Given the description of an element on the screen output the (x, y) to click on. 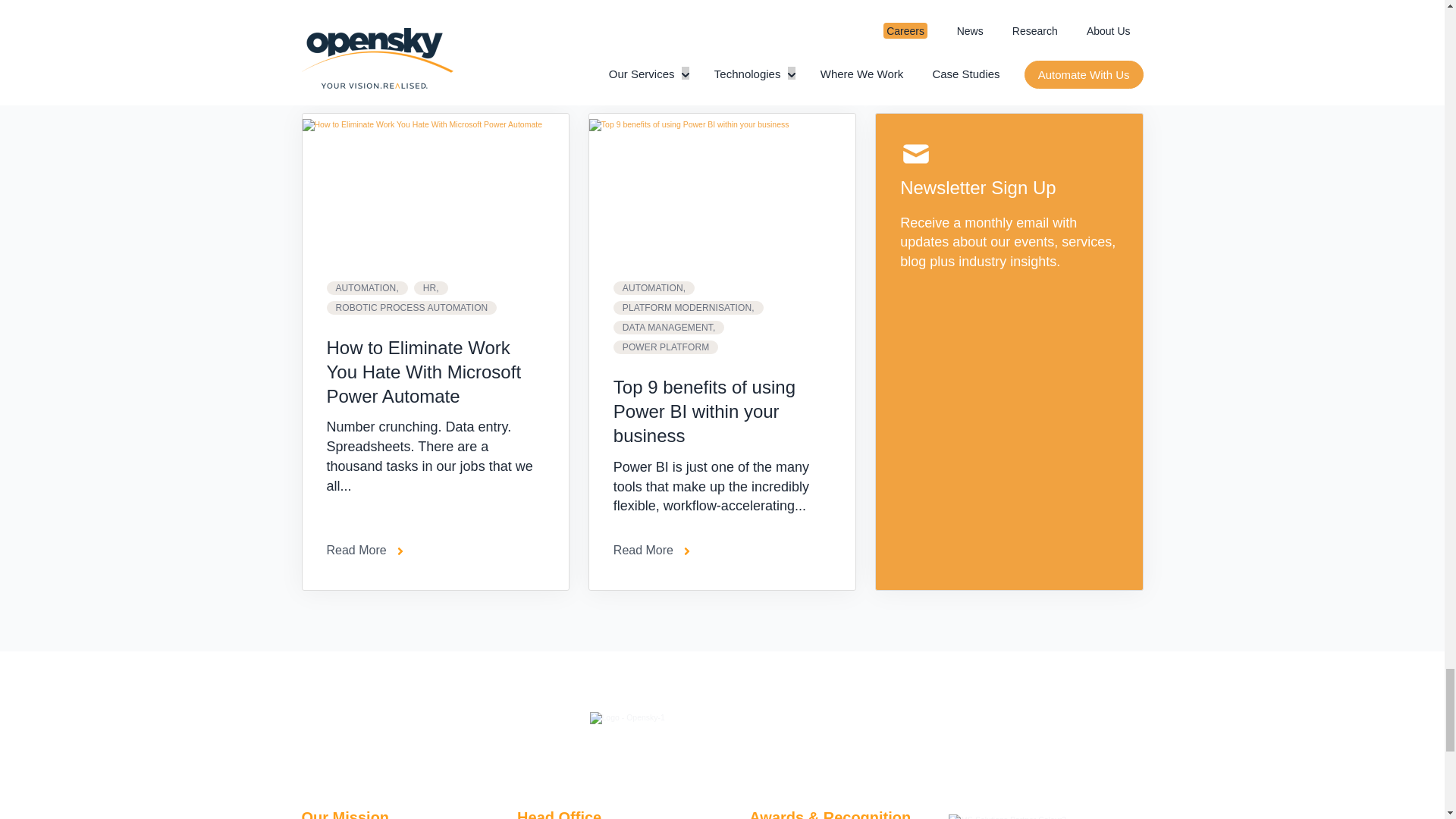
MS Solutions Partner Colour2 (1007, 816)
